Given the description of an element on the screen output the (x, y) to click on. 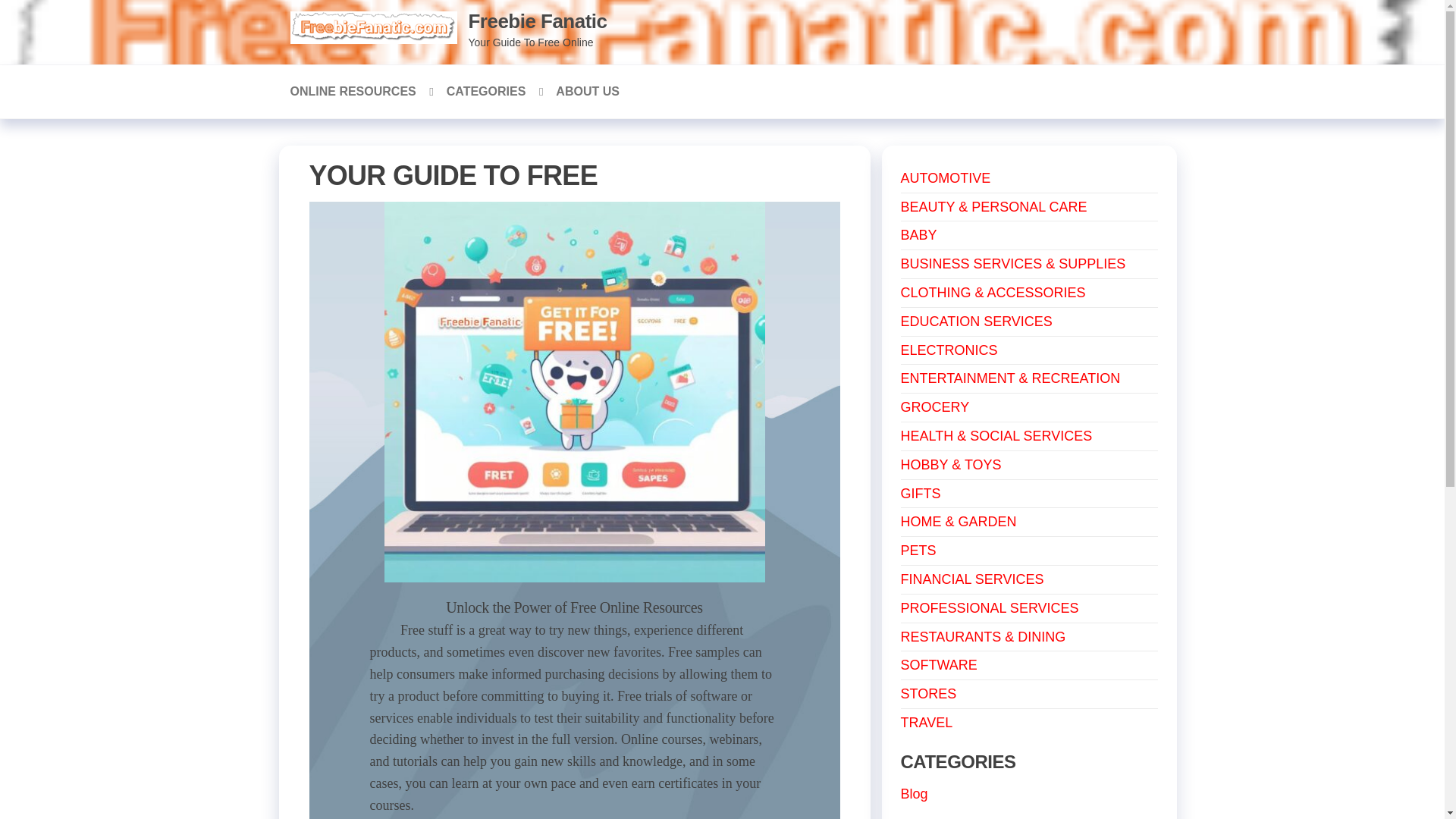
Freebie Fanatic (537, 20)
ONLINE RESOURCES (357, 91)
